Given the description of an element on the screen output the (x, y) to click on. 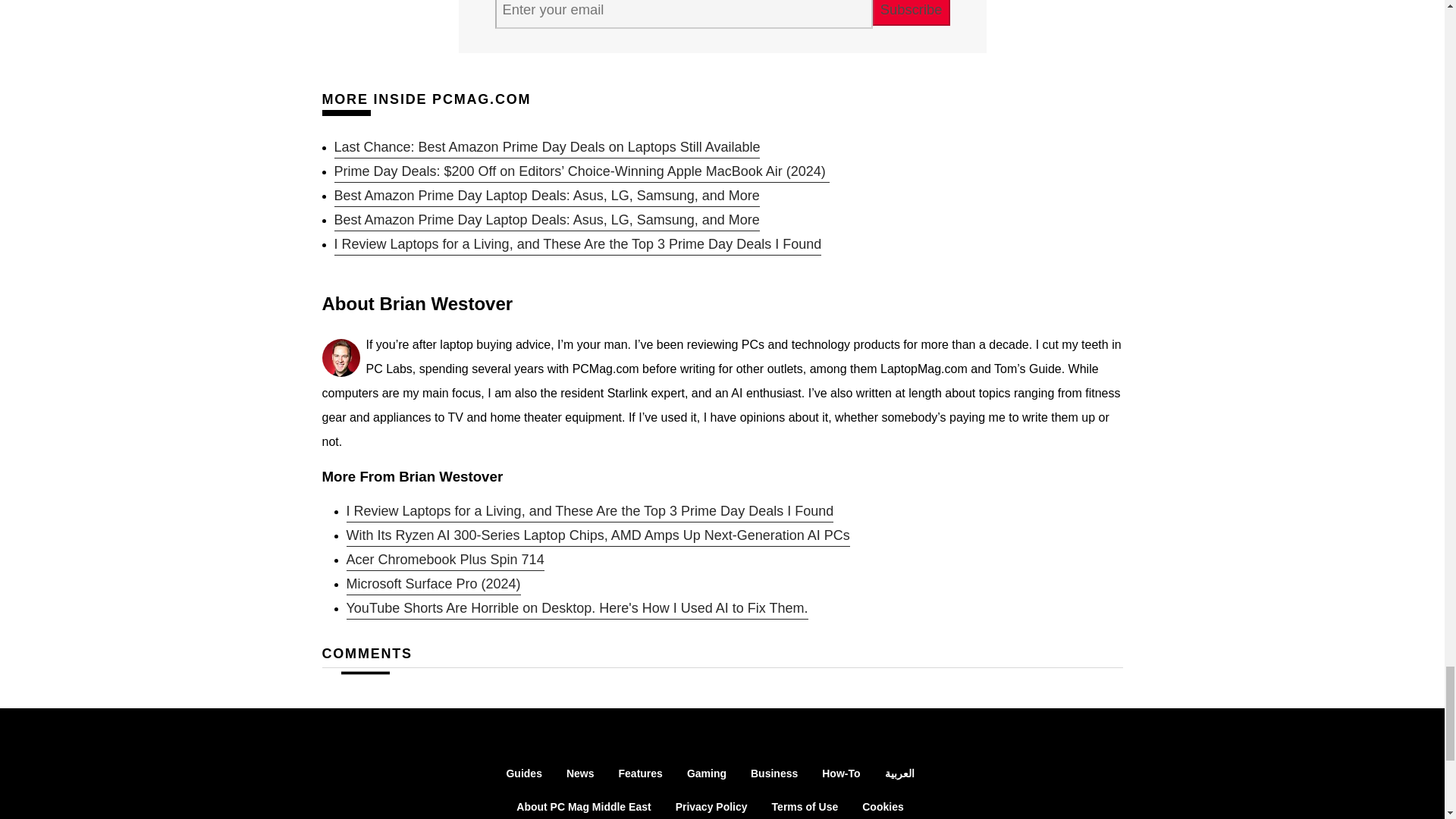
Subscribe (911, 12)
Subscribe (911, 12)
